Given the description of an element on the screen output the (x, y) to click on. 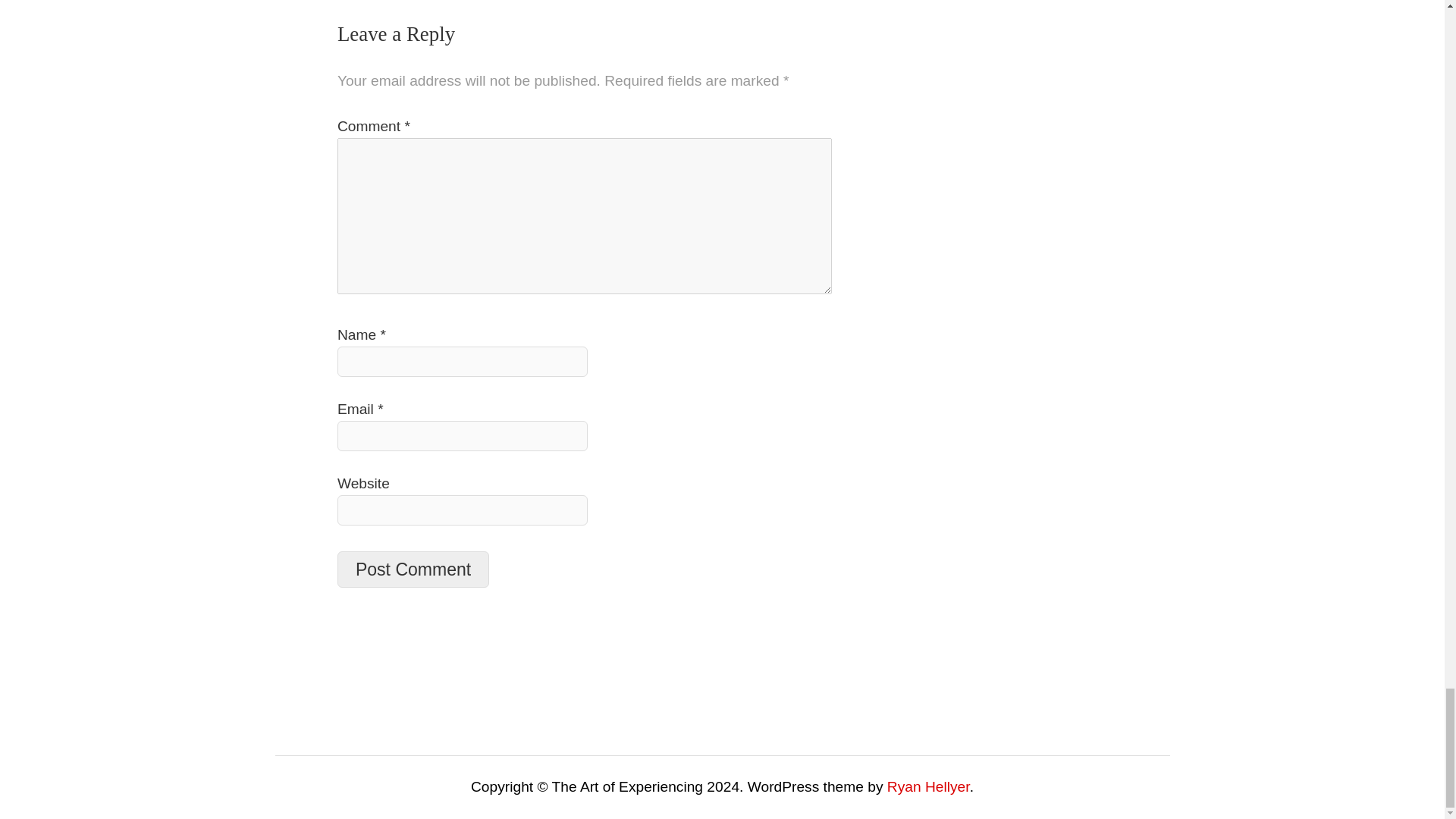
Post Comment (413, 569)
Ryan Hellyer (927, 786)
Post Comment (413, 569)
Ryan Hellyer (927, 786)
